Given the description of an element on the screen output the (x, y) to click on. 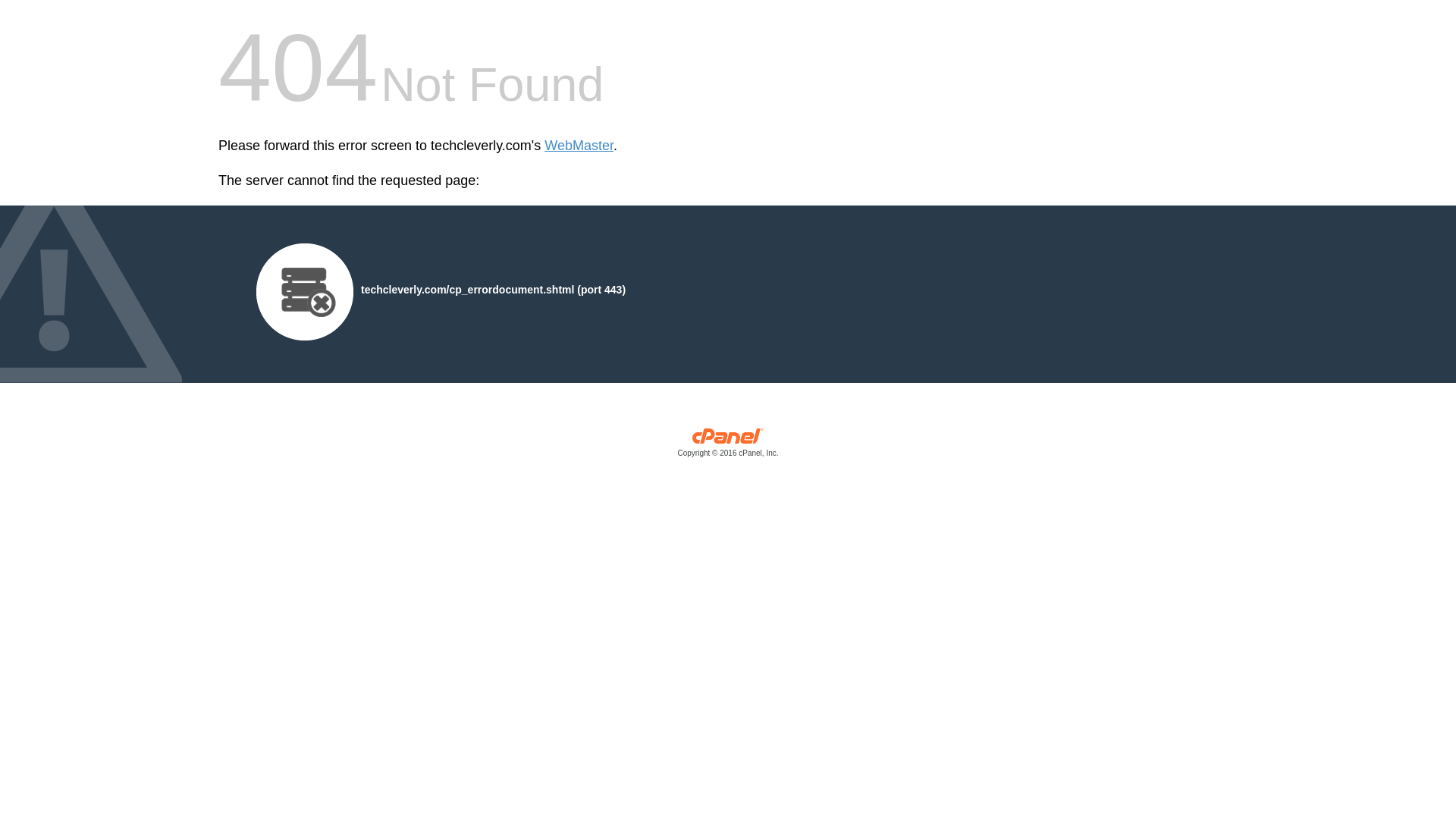
cPanel, Inc. (727, 446)
WebMaster (578, 145)
